Given the description of an element on the screen output the (x, y) to click on. 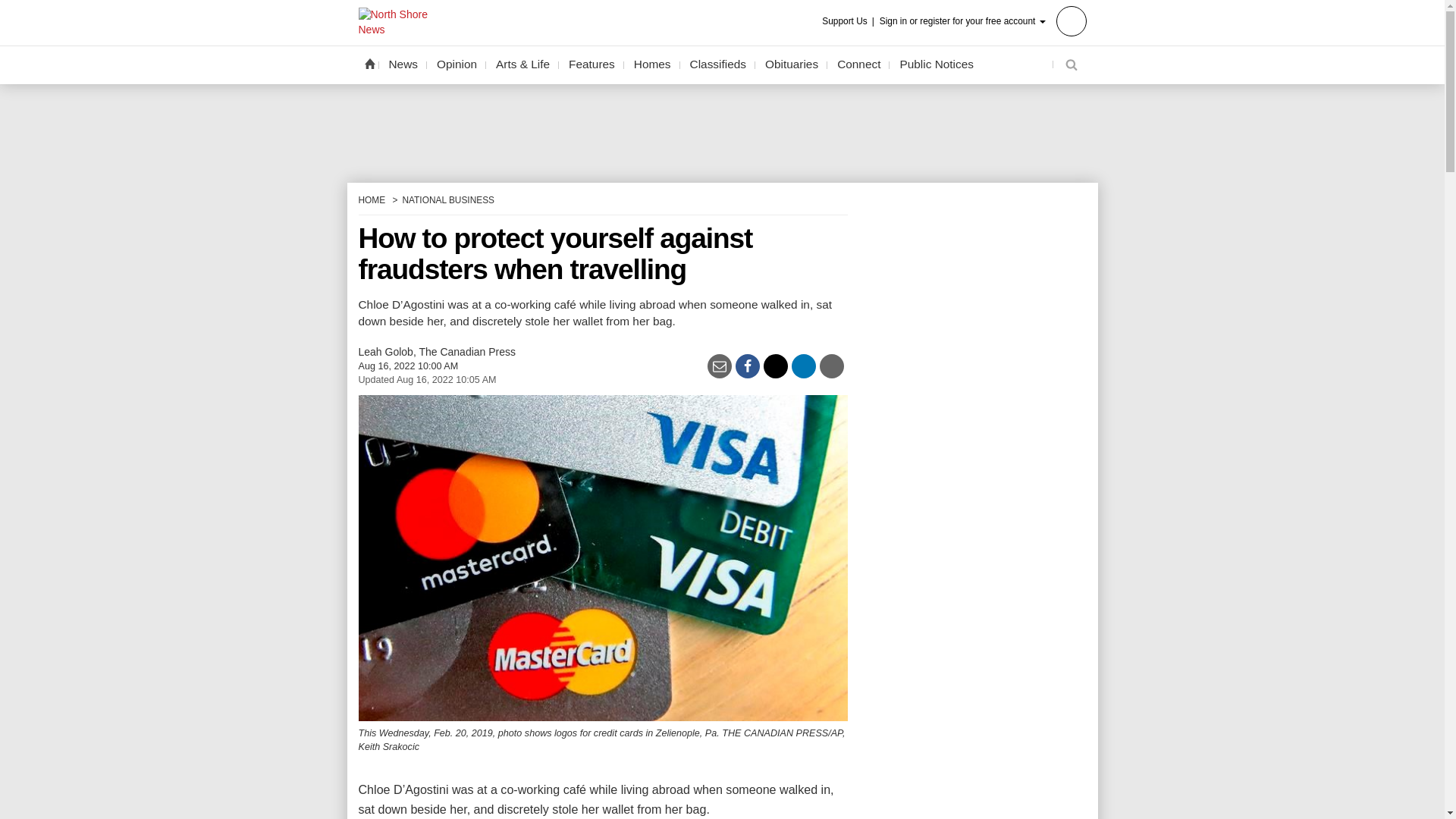
News (403, 64)
Sign in or register for your free account (982, 20)
Support Us (849, 21)
Home (368, 63)
Opinion (456, 64)
